Given the description of an element on the screen output the (x, y) to click on. 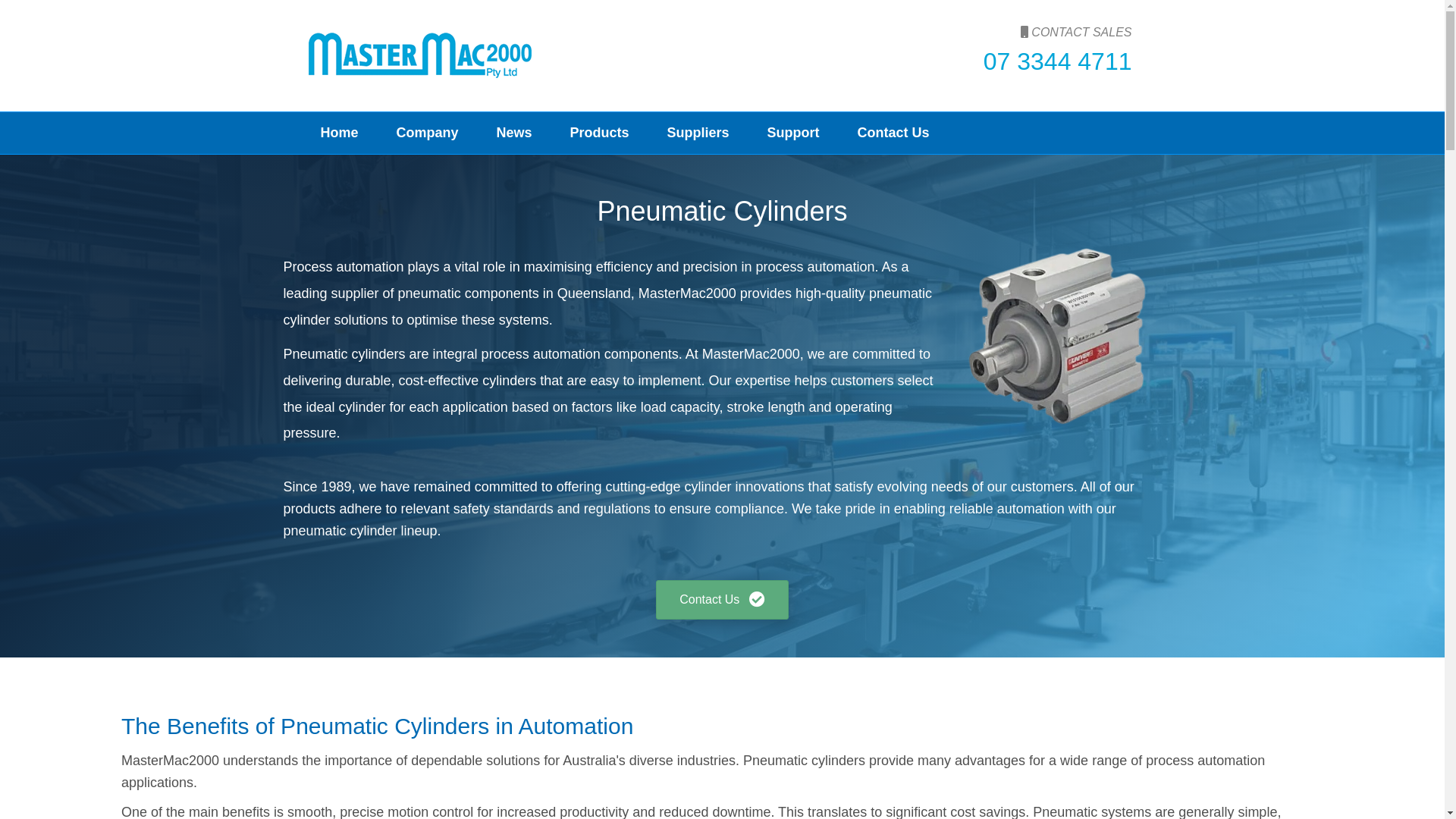
Suppliers Element type: text (698, 132)
Contact Us Element type: text (721, 600)
Short Stroke Pneumatic Cylinders Element type: hover (1058, 335)
07 3344 4711 Element type: text (1057, 61)
Home Element type: text (339, 132)
Company Element type: text (427, 132)
Products Element type: text (599, 132)
News Element type: text (514, 132)
Support Element type: text (793, 132)
Contact Us Element type: text (893, 132)
